Given the description of an element on the screen output the (x, y) to click on. 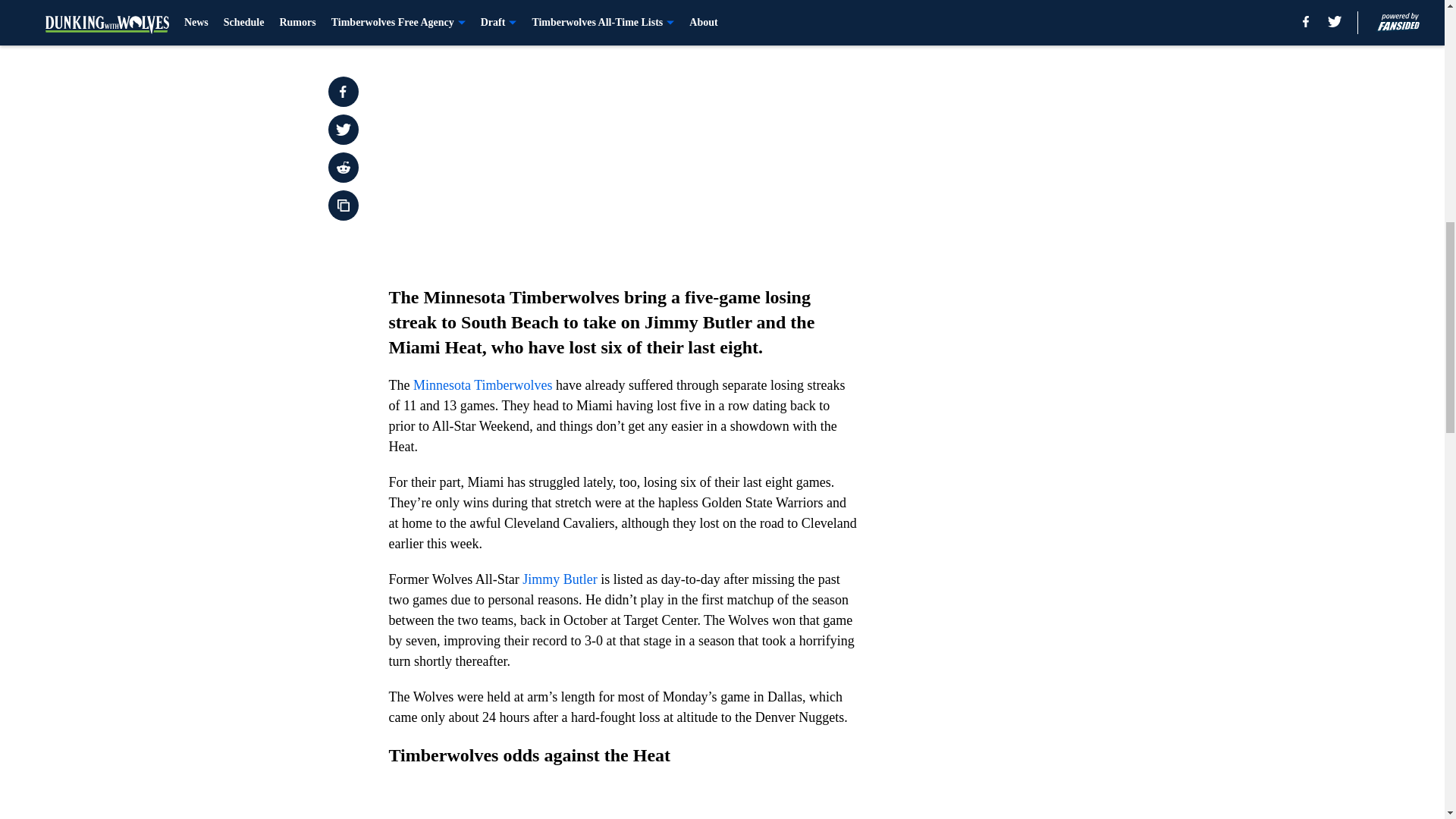
Minnesota Timberwolves (483, 385)
Jimmy Butler (559, 579)
